Given the description of an element on the screen output the (x, y) to click on. 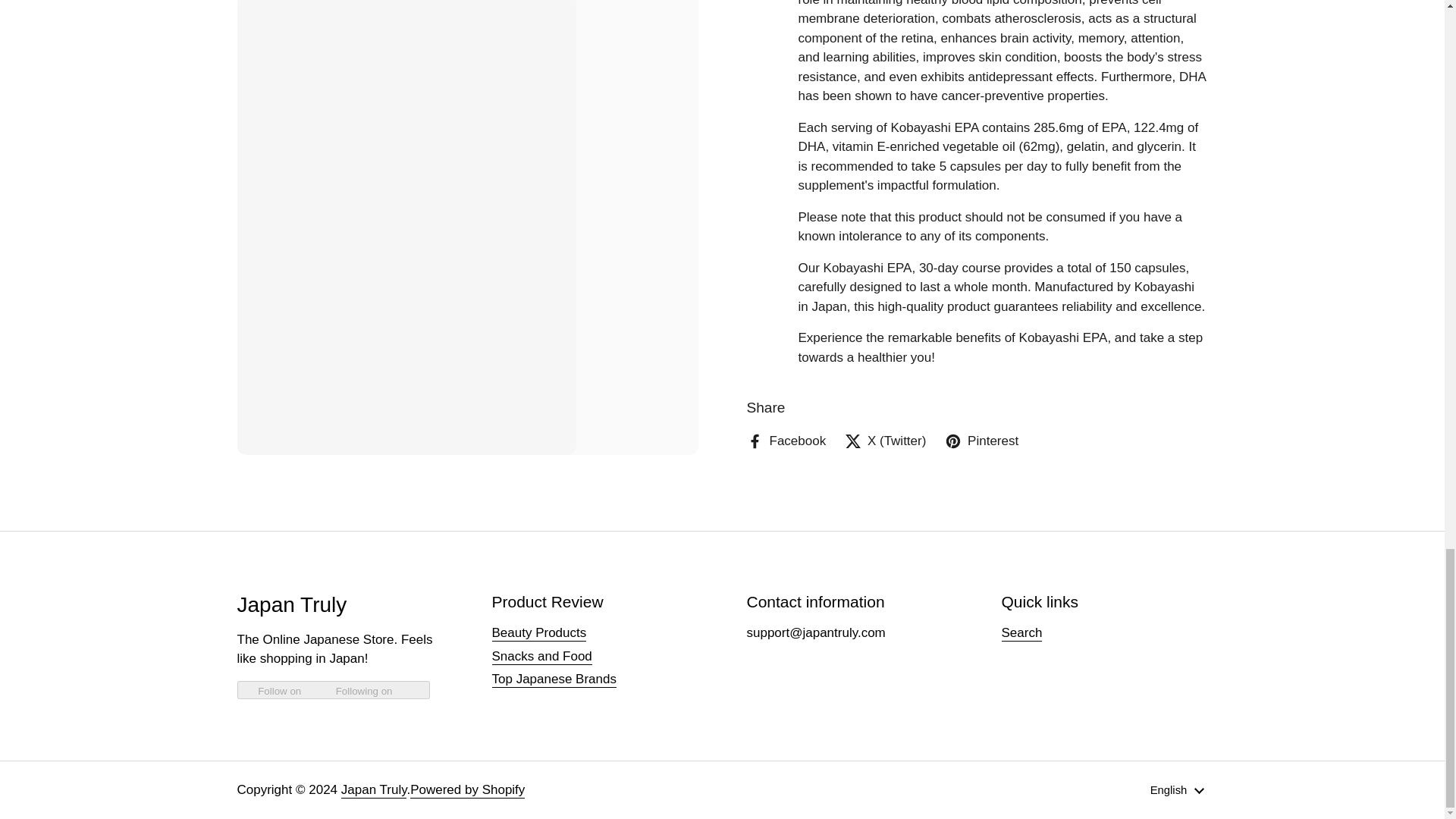
Facebook (785, 78)
Pinterest (980, 78)
Beauty Products (539, 633)
Share on X (885, 78)
Share on pinterest (980, 78)
Share on facebook (785, 78)
Snacks and Food (541, 657)
